Given the description of an element on the screen output the (x, y) to click on. 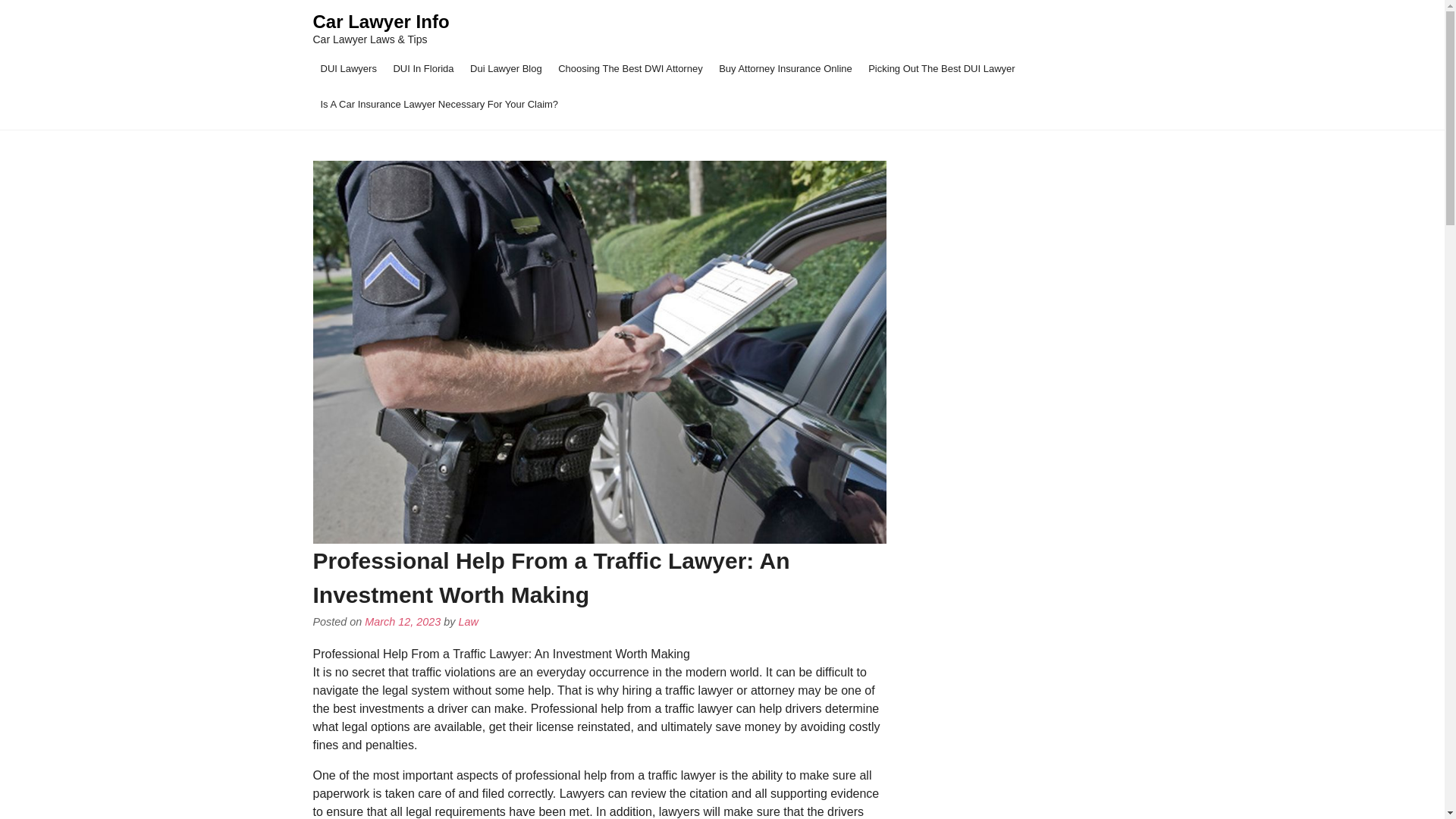
Choosing The Best DWI Attorney (630, 67)
DUI Lawyers (348, 67)
Is A Car Insurance Lawyer Necessary For Your Claim? (439, 103)
Picking Out The Best DUI Lawyer (941, 67)
Buy Attorney Insurance Online (785, 67)
March 12, 2023 (403, 621)
Dui Lawyer Blog (506, 67)
DUI In Florida (423, 67)
Car Lawyer Info (380, 21)
Law (468, 621)
